Given the description of an element on the screen output the (x, y) to click on. 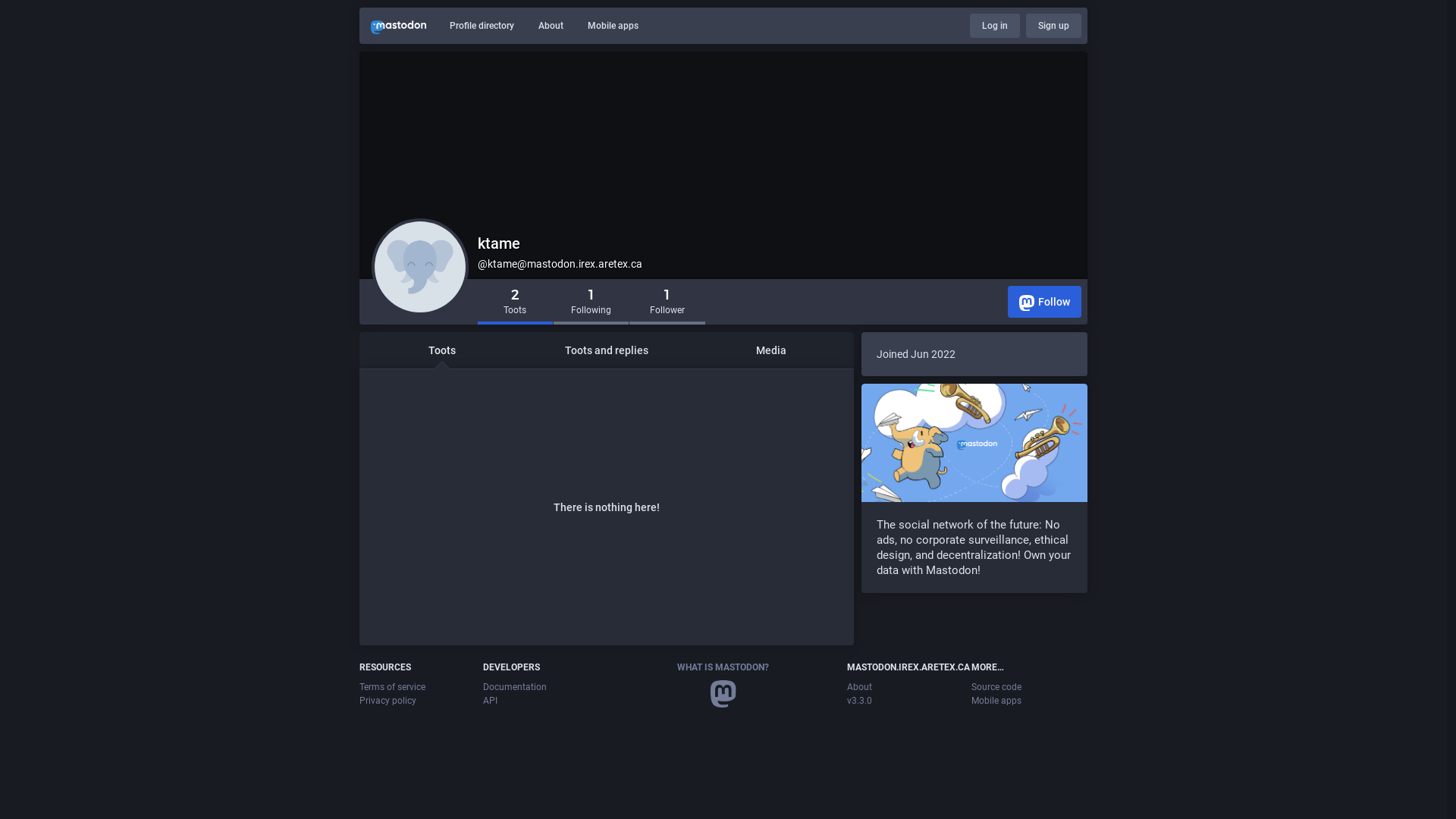
Privacy policy Element type: text (387, 700)
Toots and replies Element type: text (606, 350)
Source code Element type: text (996, 686)
Sign up Element type: text (1053, 25)
WHAT IS MASTODON? Element type: text (722, 667)
1
Following Element type: text (591, 302)
Terms of service Element type: text (392, 686)
Mobile apps Element type: text (612, 25)
Profile directory Element type: text (481, 25)
Follow Element type: text (1044, 301)
1
Follower Element type: text (667, 302)
Log in Element type: text (994, 25)
About Element type: text (550, 25)
2
Toots Element type: text (515, 302)
About Element type: text (859, 686)
Mobile apps Element type: text (996, 700)
API Element type: text (490, 700)
Documentation Element type: text (514, 686)
Media Element type: text (771, 350)
Toots Element type: text (441, 350)
